Given the description of an element on the screen output the (x, y) to click on. 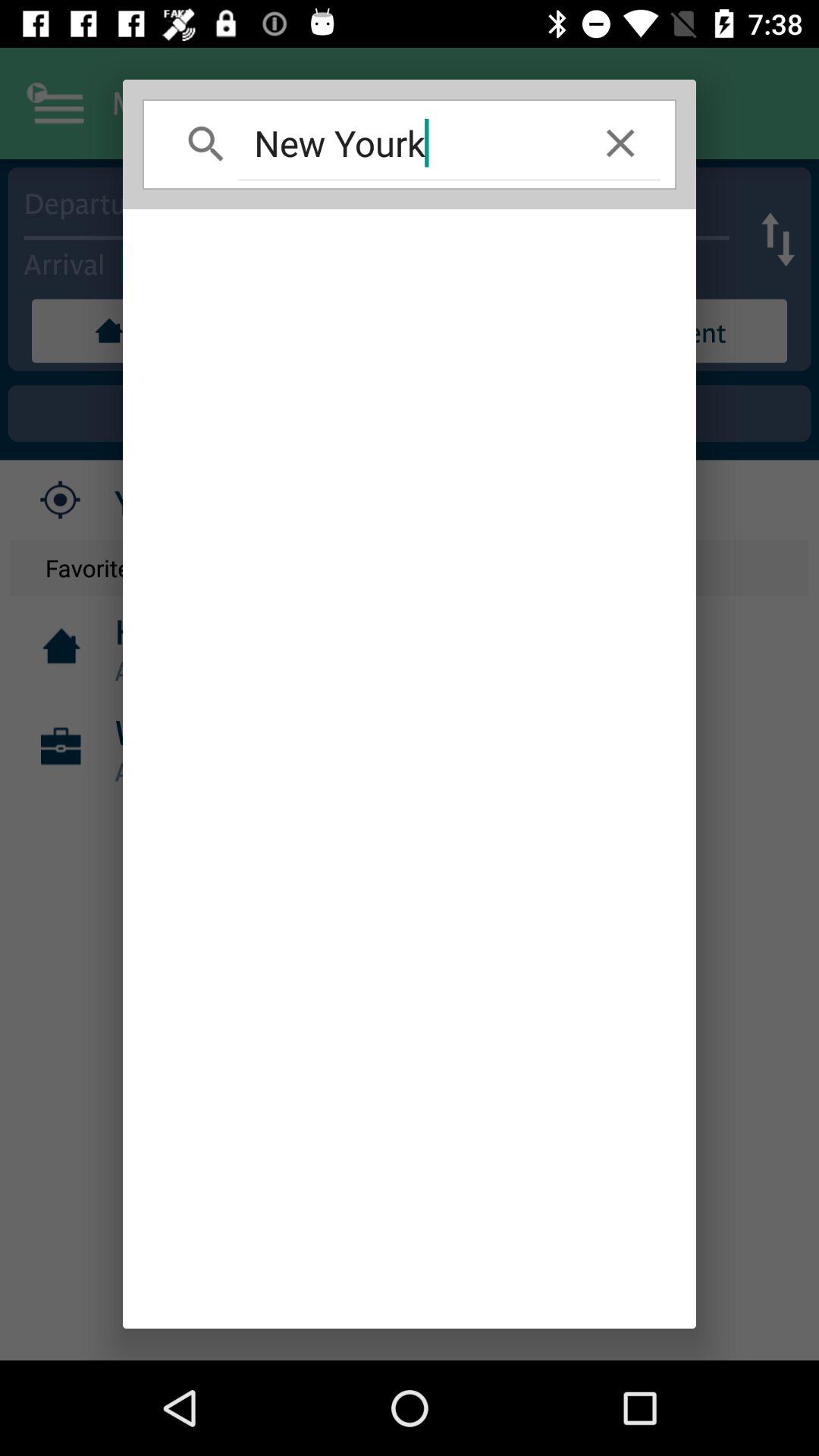
turn on item below new yourk icon (409, 768)
